Given the description of an element on the screen output the (x, y) to click on. 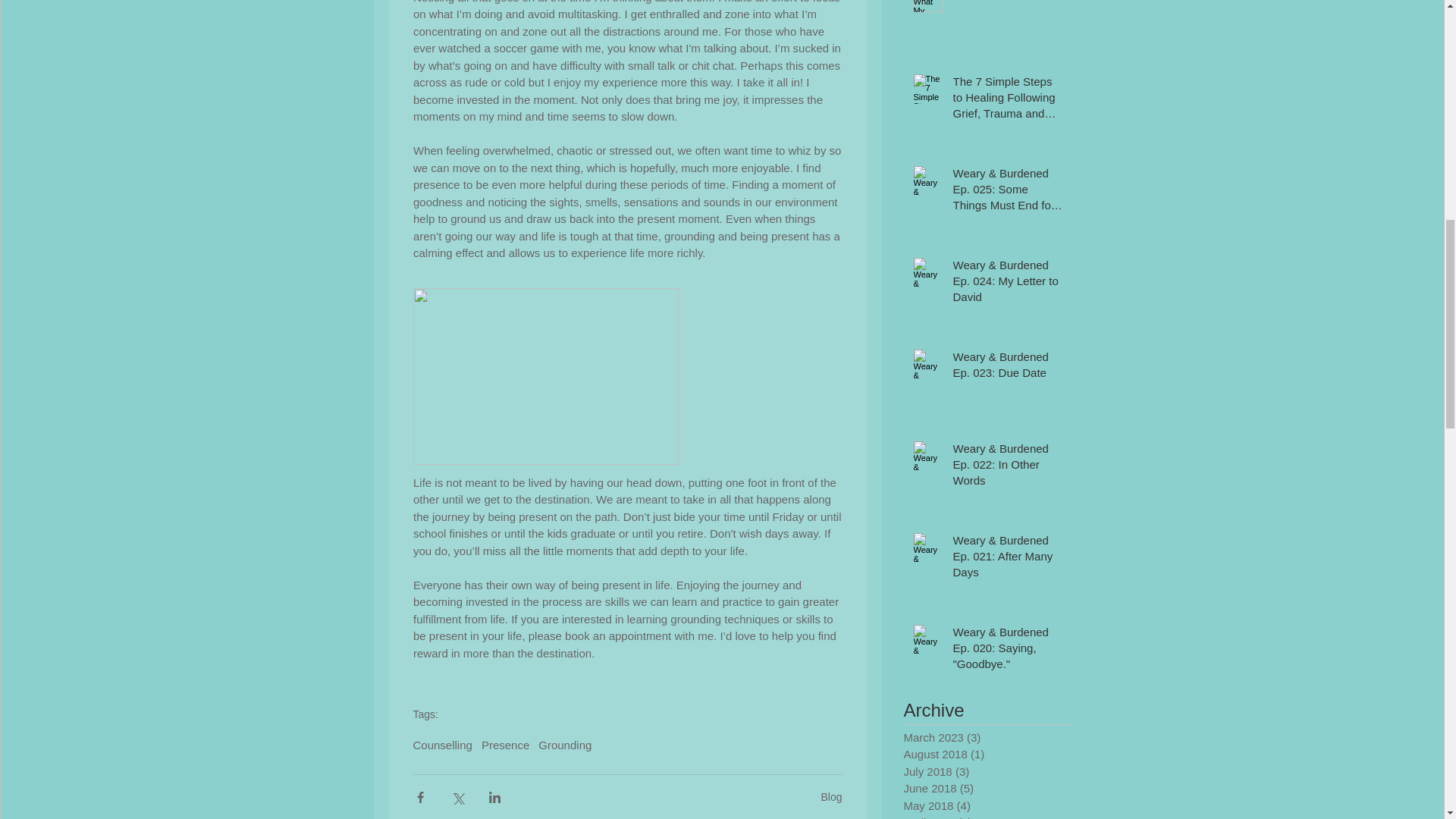
Blog (831, 797)
Book Review: What My Bones Know (1008, 2)
Counselling (441, 744)
Grounding (564, 744)
Presence (505, 744)
